Given the description of an element on the screen output the (x, y) to click on. 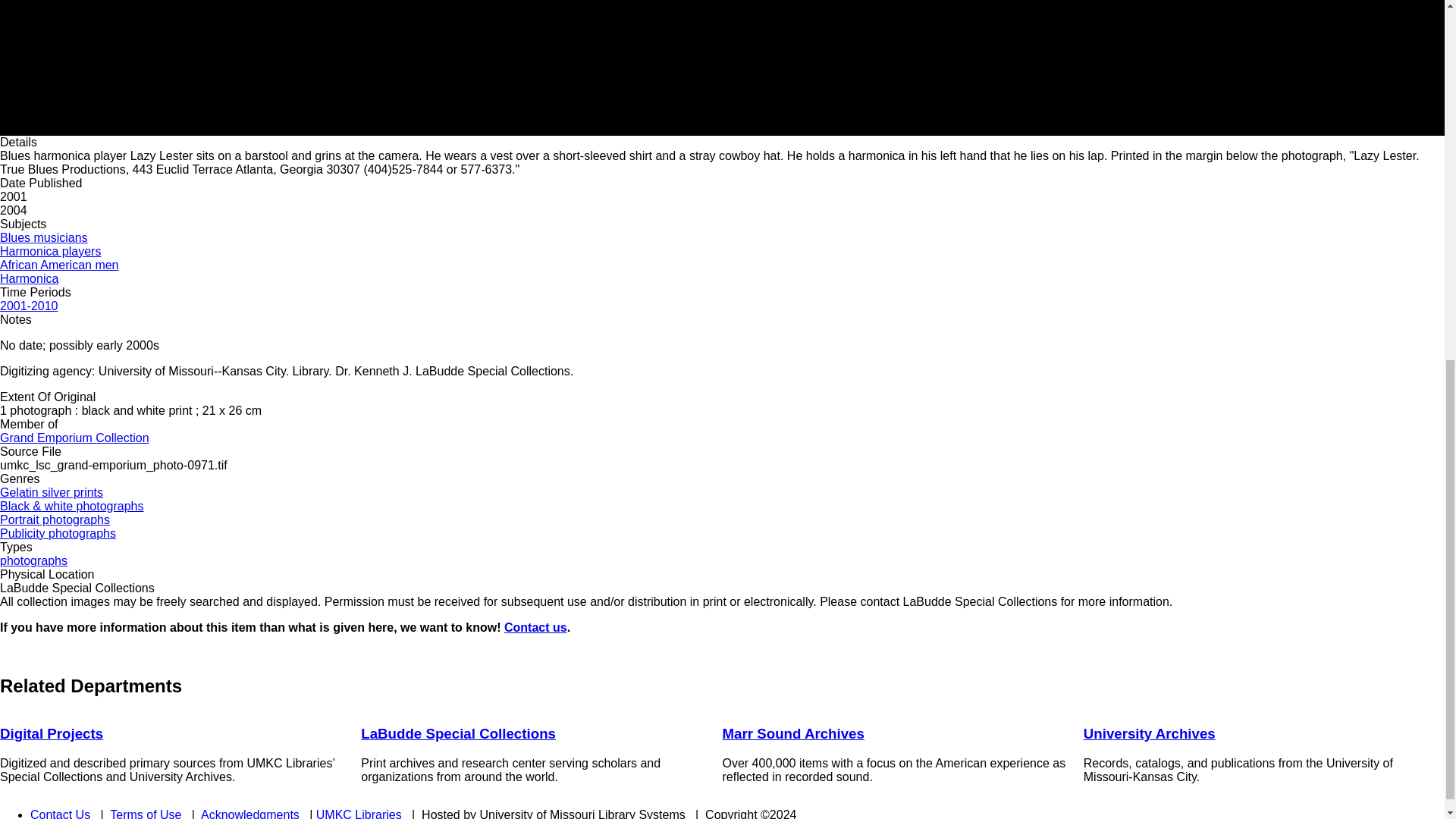
Grand Emporium Collection (74, 437)
University Archives (1149, 733)
Contact us (535, 626)
photographs (33, 560)
African American men (59, 264)
Digital Projects (51, 733)
Marr Sound Archives (792, 733)
Harmonica players (50, 250)
LaBudde Special Collections (458, 733)
Gelatin silver prints (51, 492)
